Given the description of an element on the screen output the (x, y) to click on. 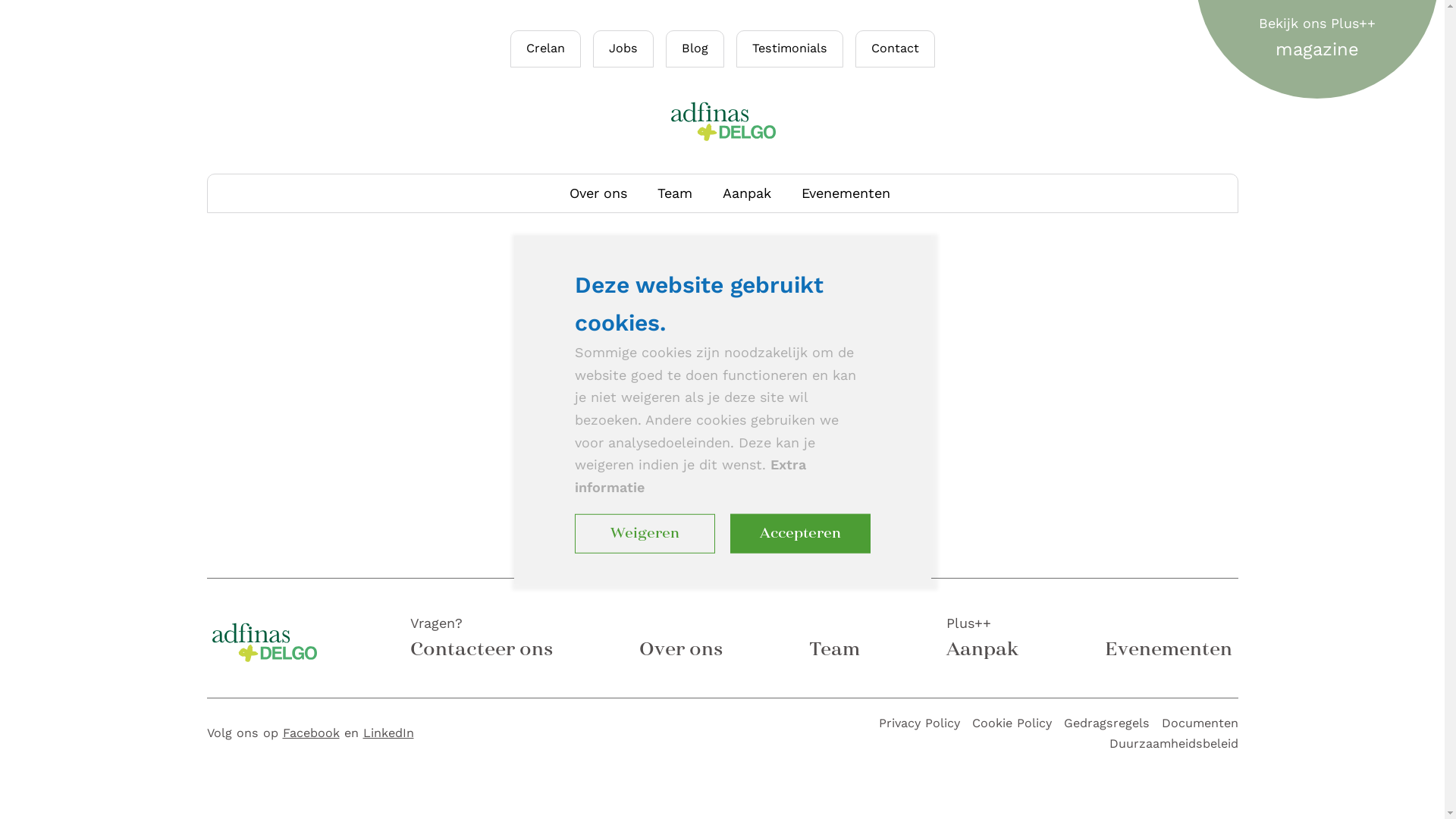
Aanpak Element type: text (746, 193)
Facebook Element type: text (310, 732)
Contact Element type: text (96, 377)
Blog Element type: text (80, 293)
Cookie Policy Element type: text (1011, 722)
Duurzaamheidsbeleid Element type: text (1172, 743)
Plus++
Aanpak Element type: text (982, 637)
Over ons Element type: text (100, 127)
Vragen?
Contacteer ons Element type: text (480, 637)
Contact Element type: text (894, 48)
Team Element type: text (674, 193)
Testimonials Element type: text (789, 48)
Blog Element type: text (693, 48)
Home Element type: text (87, 85)
Evenementen Element type: text (1167, 649)
Aanpak Element type: text (94, 210)
Bekijk ons Plus++
magazine Element type: text (1316, 38)
Testimonials Element type: text (117, 335)
Privacy Policy Element type: text (918, 722)
Team Element type: text (84, 168)
Jobs Element type: text (622, 48)
Team Element type: text (833, 649)
Over ons Element type: text (598, 193)
Sluit menu Element type: text (1364, 38)
Gedragsregels Element type: text (1105, 722)
Extra informatie Element type: text (690, 475)
Weigeren Element type: text (644, 533)
Ga terug Element type: text (721, 428)
Evenementen Element type: text (122, 252)
Over ons Element type: text (679, 649)
Accepteren Element type: text (799, 533)
Evenementen Element type: text (845, 193)
Documenten Element type: text (1199, 722)
LinkedIn Element type: text (387, 732)
Crelan Element type: text (545, 48)
